Given the description of an element on the screen output the (x, y) to click on. 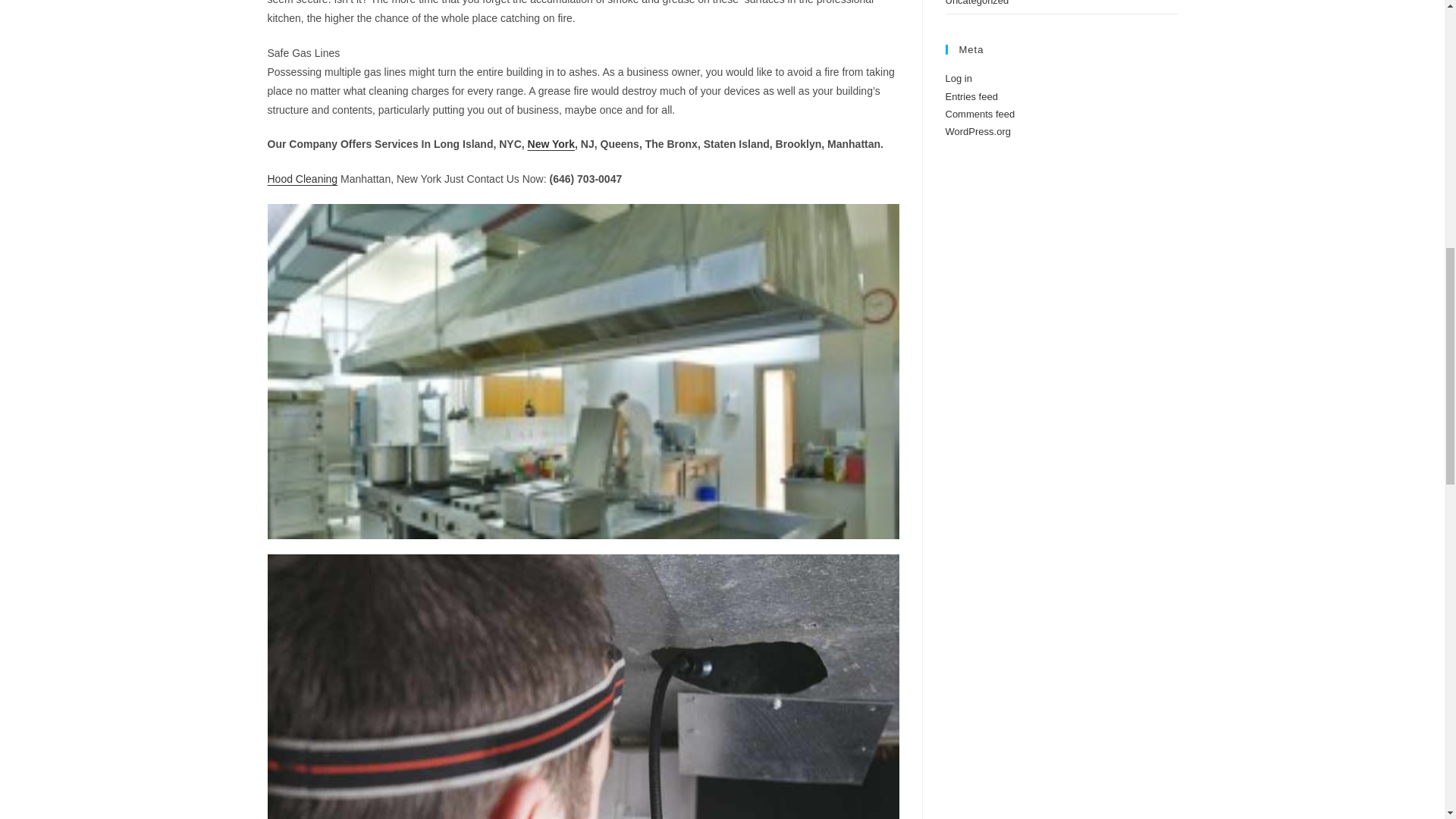
Hood Cleaning (301, 178)
New York (551, 143)
